Given the description of an element on the screen output the (x, y) to click on. 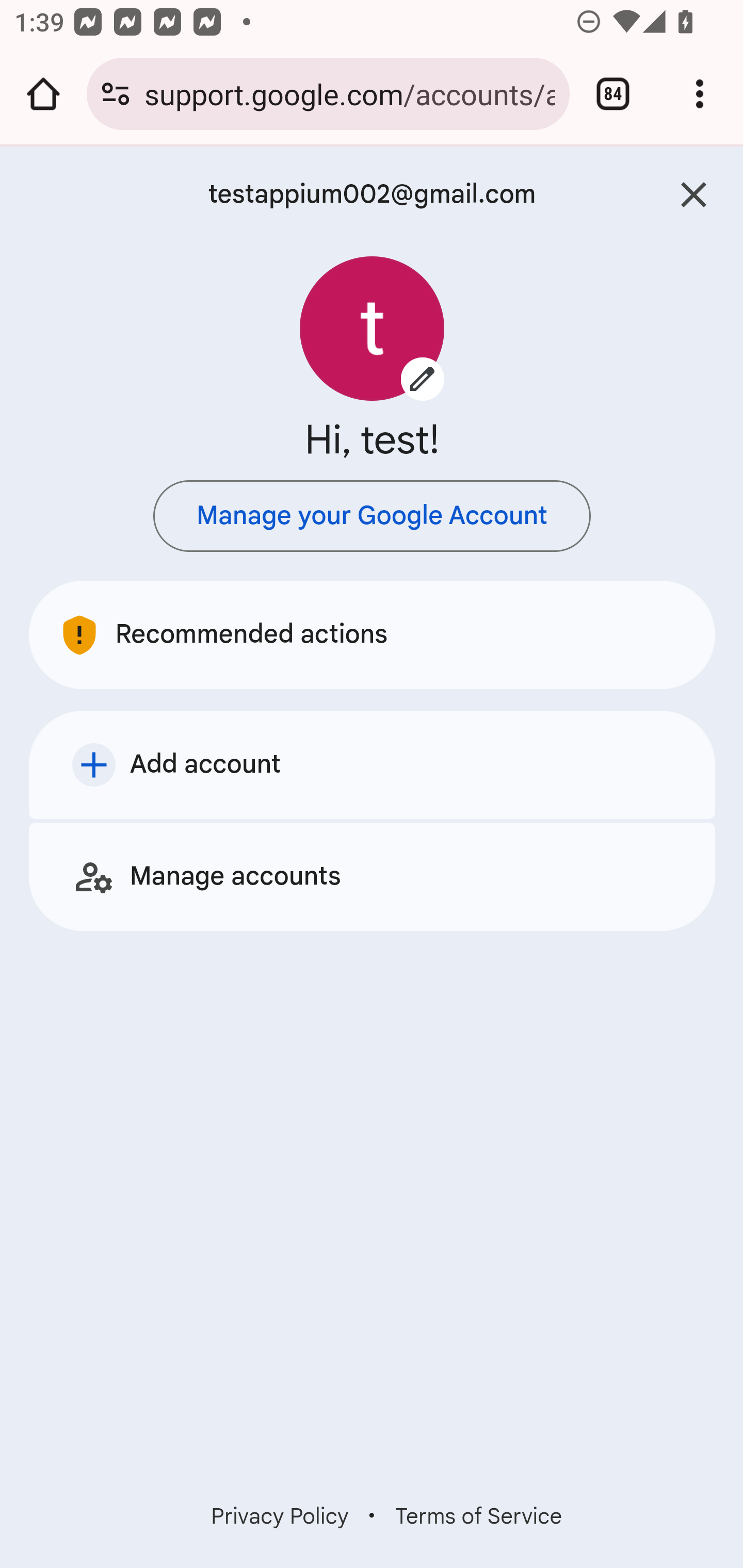
Open the home page (43, 93)
Connection is secure (115, 93)
Switch or close tabs (612, 93)
Customize and control Google Chrome (699, 93)
support.google.com/accounts/answer/1350409 (349, 92)
